Given the description of an element on the screen output the (x, y) to click on. 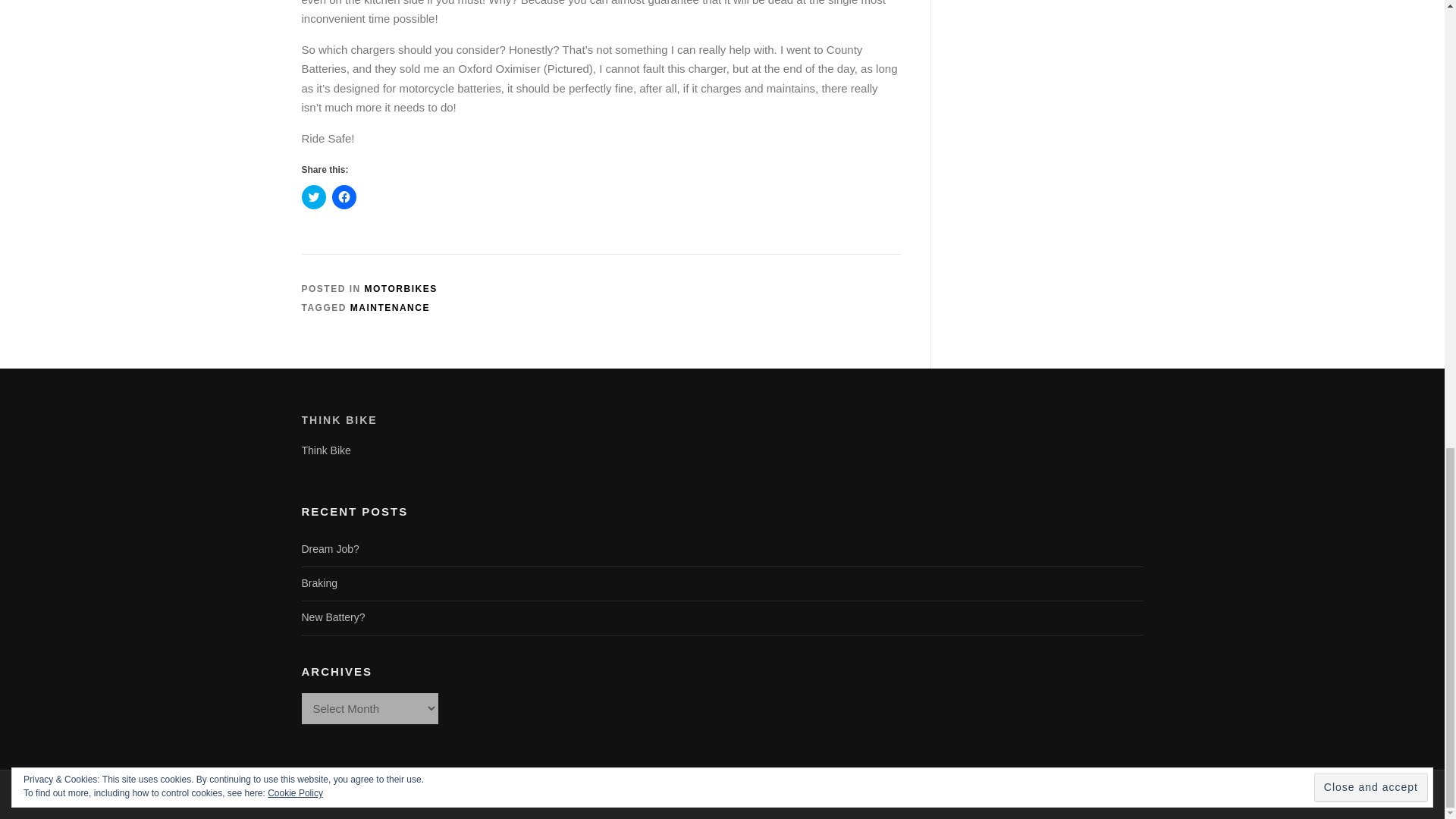
MAINTENANCE (389, 307)
Click to share on Twitter (313, 197)
Click to share on Facebook (343, 197)
MOTORBIKES (401, 288)
